Given the description of an element on the screen output the (x, y) to click on. 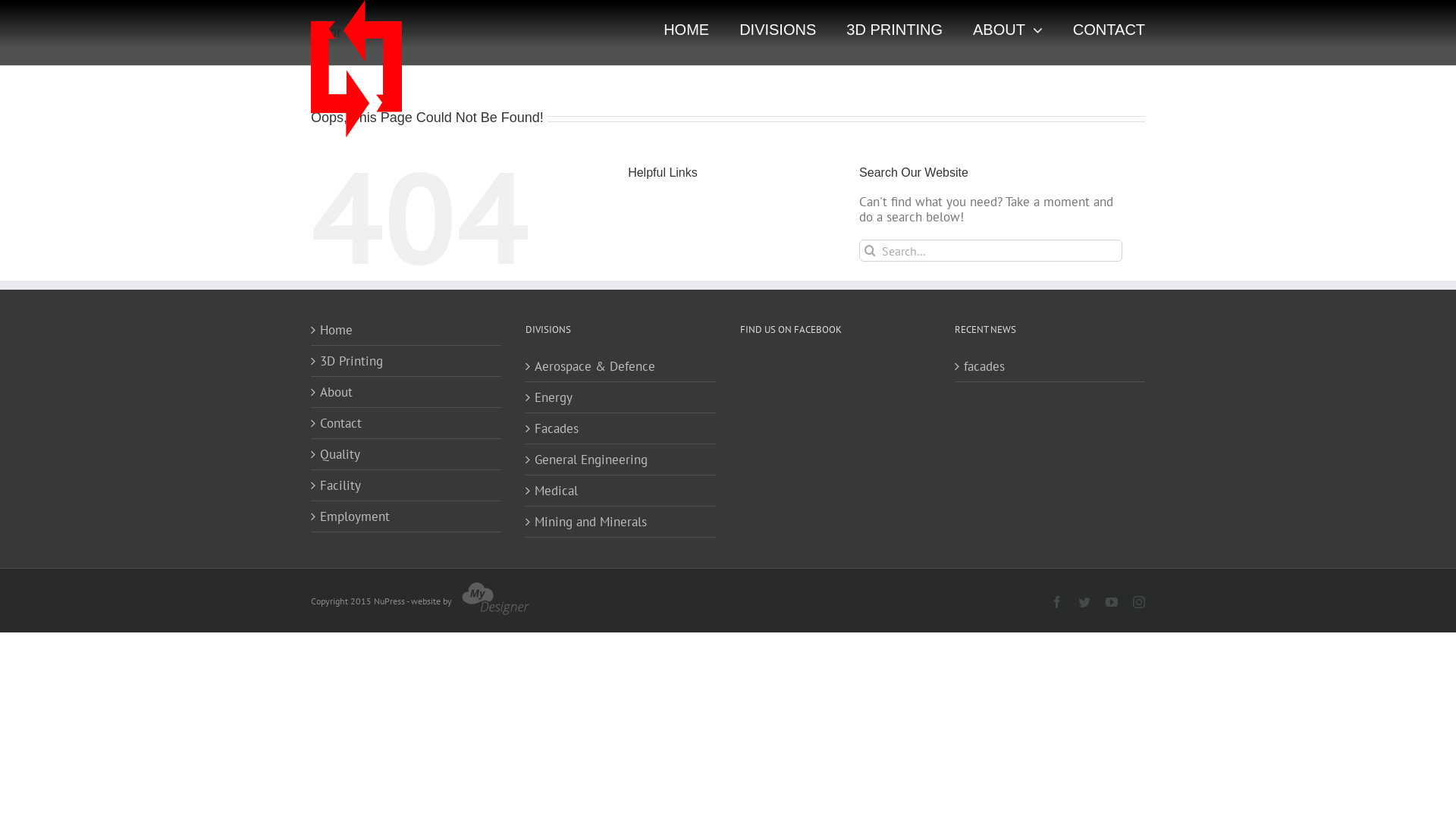
3D PRINTING Element type: text (894, 30)
Quality Element type: text (406, 453)
HOME Element type: text (686, 30)
Aerospace & Defence Element type: text (621, 365)
CONTACT Element type: text (1109, 30)
Twitter Element type: text (1084, 602)
DIVISIONS Element type: text (777, 30)
Medical Element type: text (621, 490)
Facades Element type: text (621, 428)
Employment Element type: text (406, 516)
3D Printing Element type: text (406, 360)
Contact Element type: text (406, 422)
ABOUT Element type: text (1007, 30)
Mining and Minerals Element type: text (621, 521)
General Engineering Element type: text (621, 459)
Instagram Element type: text (1138, 602)
Energy Element type: text (621, 396)
Facility Element type: text (406, 484)
Facebook Element type: text (1057, 602)
facades Element type: text (1050, 365)
Home Element type: text (406, 329)
About Element type: text (406, 391)
YouTube Element type: text (1111, 602)
